Given the description of an element on the screen output the (x, y) to click on. 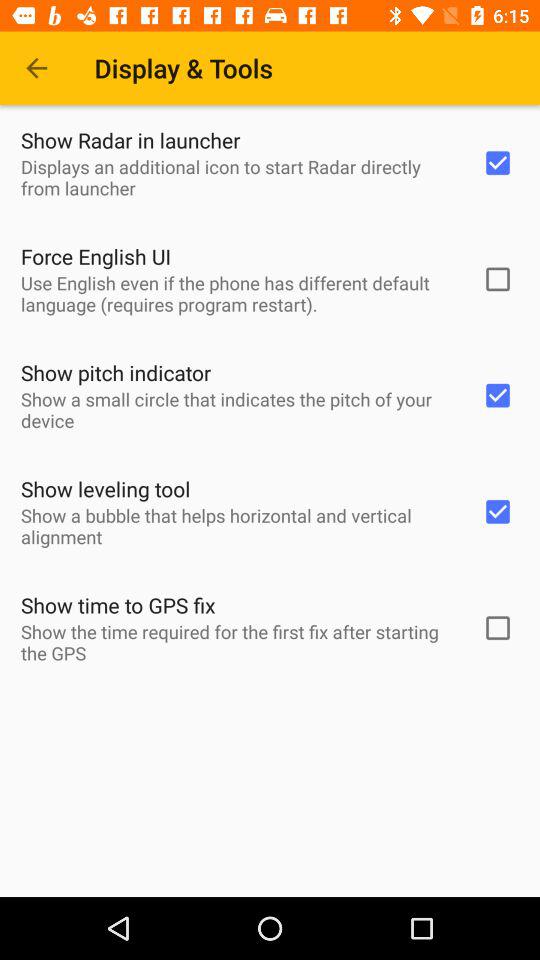
select the item above displays an additional item (130, 139)
